Given the description of an element on the screen output the (x, y) to click on. 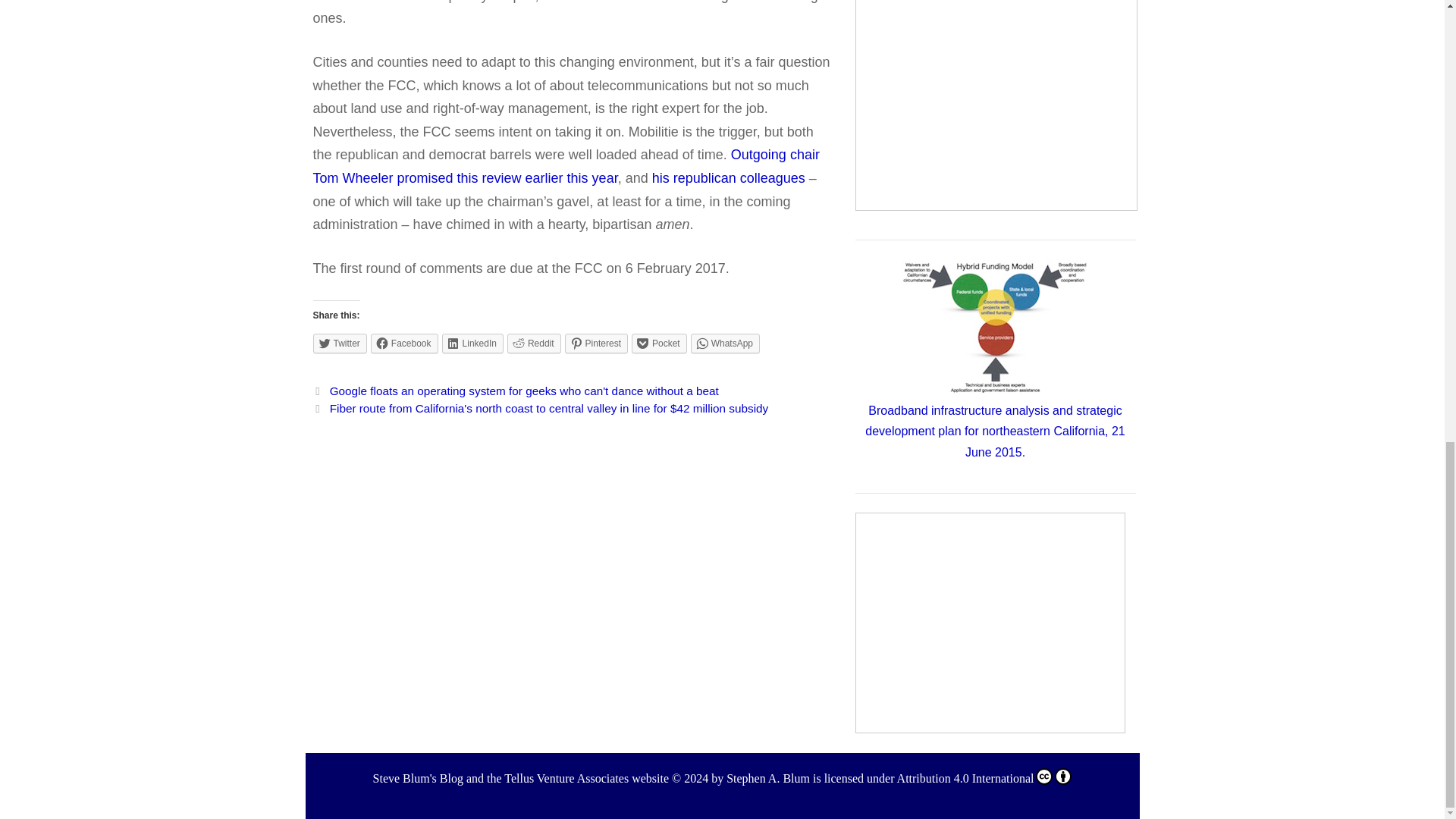
Click to share on WhatsApp (725, 342)
Click to share on LinkedIn (472, 342)
Click to share on Pocket (659, 342)
Next (540, 408)
Click to share on Twitter (339, 342)
Click to share on Facebook (404, 342)
Click to share on Reddit (533, 342)
Previous (515, 390)
Click to share on Pinterest (595, 342)
